Given the description of an element on the screen output the (x, y) to click on. 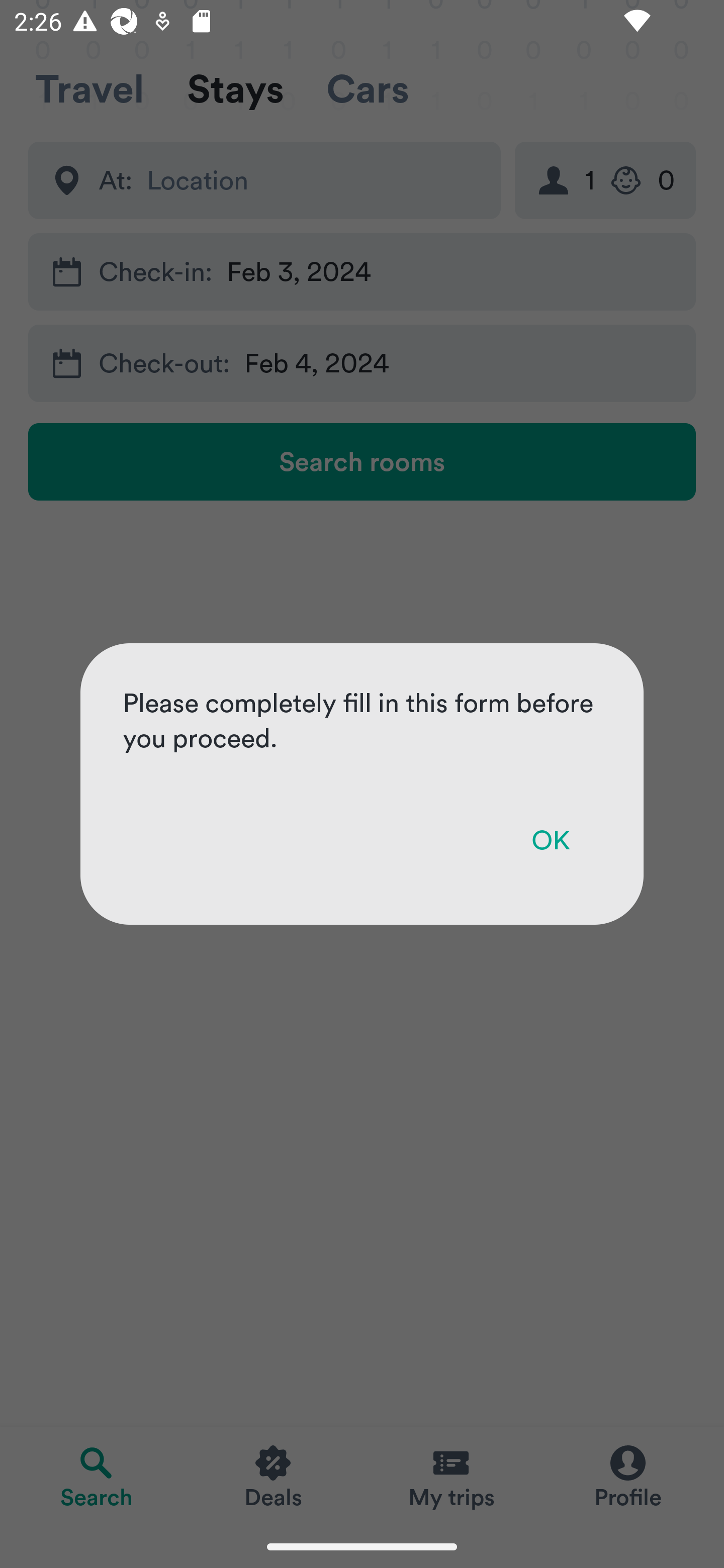
OK (550, 840)
